Given the description of an element on the screen output the (x, y) to click on. 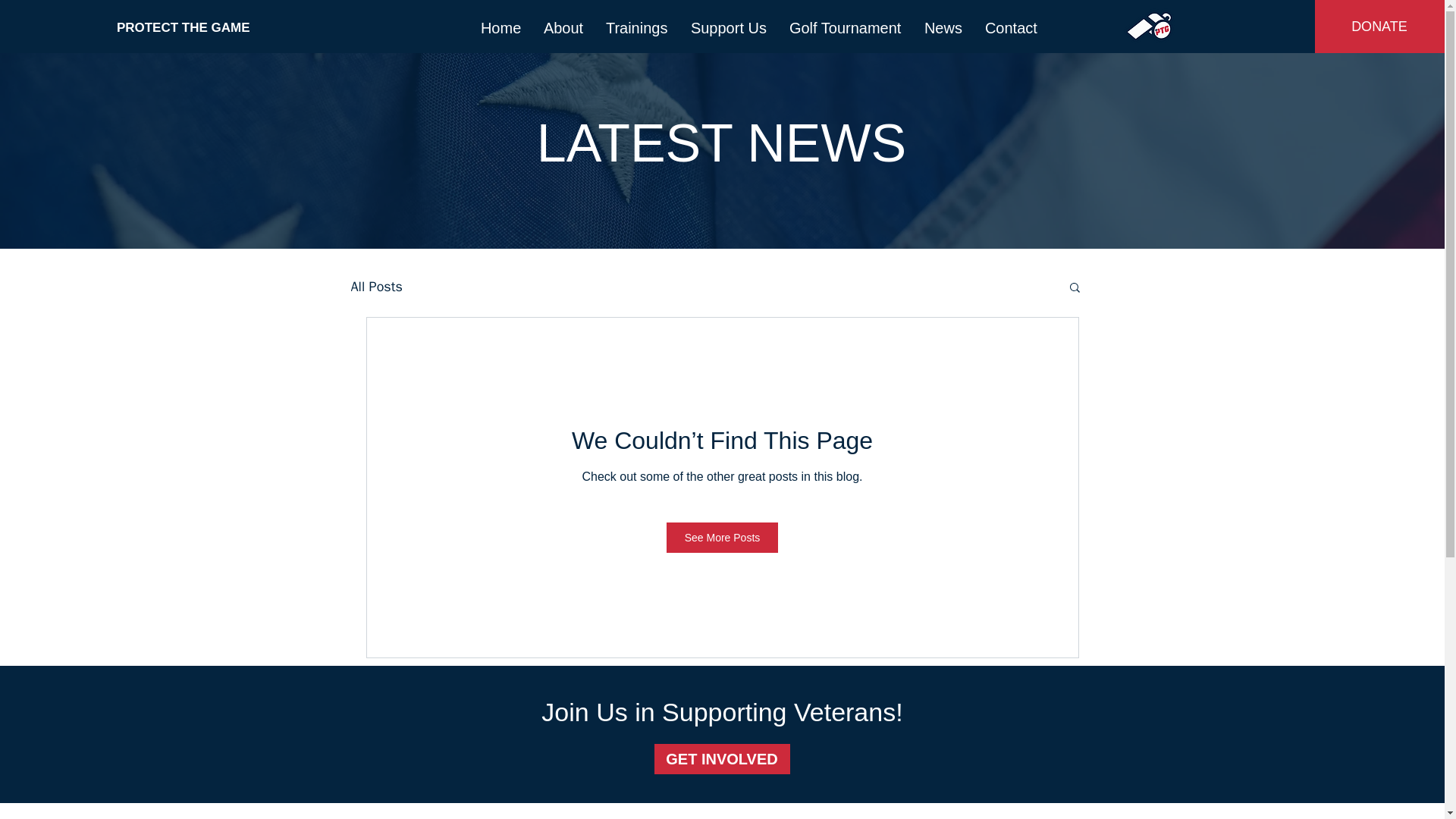
Support Us (728, 28)
Contact (1011, 28)
GET INVOLVED (721, 758)
See More Posts (722, 537)
Trainings (636, 28)
DONATE (1378, 27)
PROTECT THE GAME (189, 27)
Golf Tournament (844, 28)
Home (500, 28)
About (563, 28)
News (943, 28)
All Posts (375, 286)
